Given the description of an element on the screen output the (x, y) to click on. 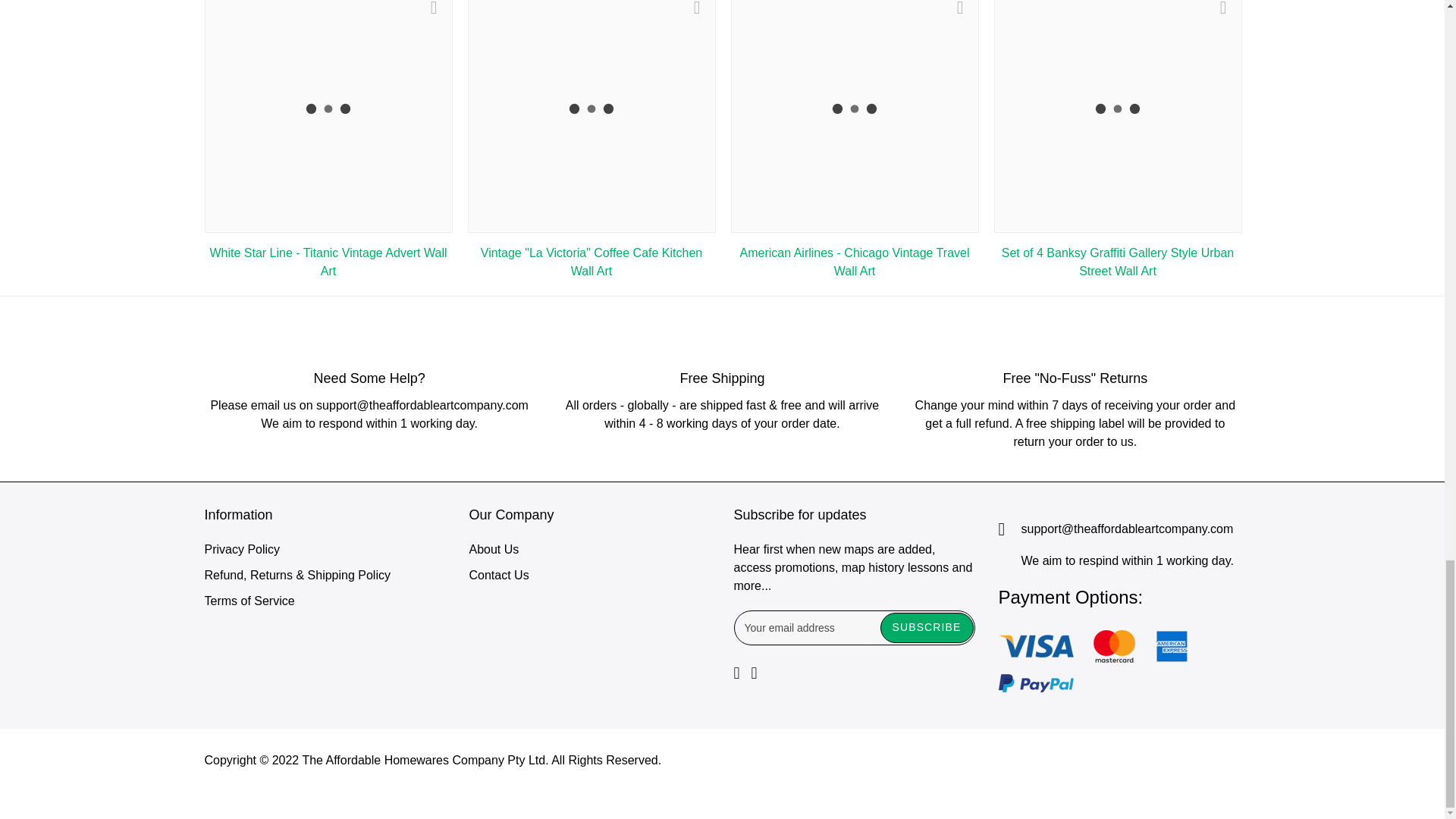
Add to Wishlist (434, 7)
Add to Wishlist (1223, 7)
Vintage "La Victoria" Coffee Cafe Kitchen Wall Art (590, 261)
Add to Wishlist (697, 7)
White Star Line - Titanic Vintage Advert Wall Art (327, 261)
Set of 4 Banksy Graffiti Gallery Style Urban Street Wall Art (1117, 261)
American Airlines - Chicago Vintage Travel Wall Art (854, 261)
Add to Wishlist (959, 7)
